Given the description of an element on the screen output the (x, y) to click on. 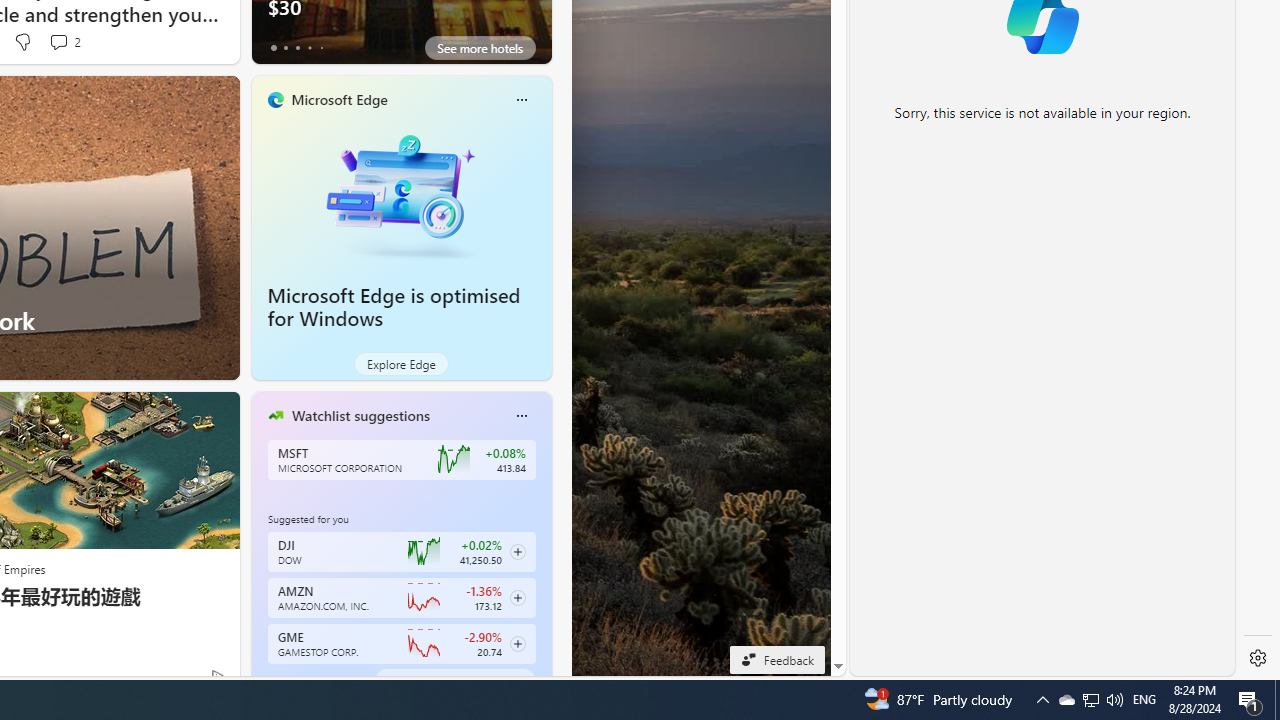
View comments 2 Comment (58, 41)
Ad Choice (217, 675)
Dislike (21, 42)
View comments 2 Comment (64, 42)
See watchlist suggestions (454, 679)
Microsoft Edge (338, 99)
tab-1 (285, 679)
Class: icon-img (521, 416)
Watchlist suggestions (360, 415)
